Given the description of an element on the screen output the (x, y) to click on. 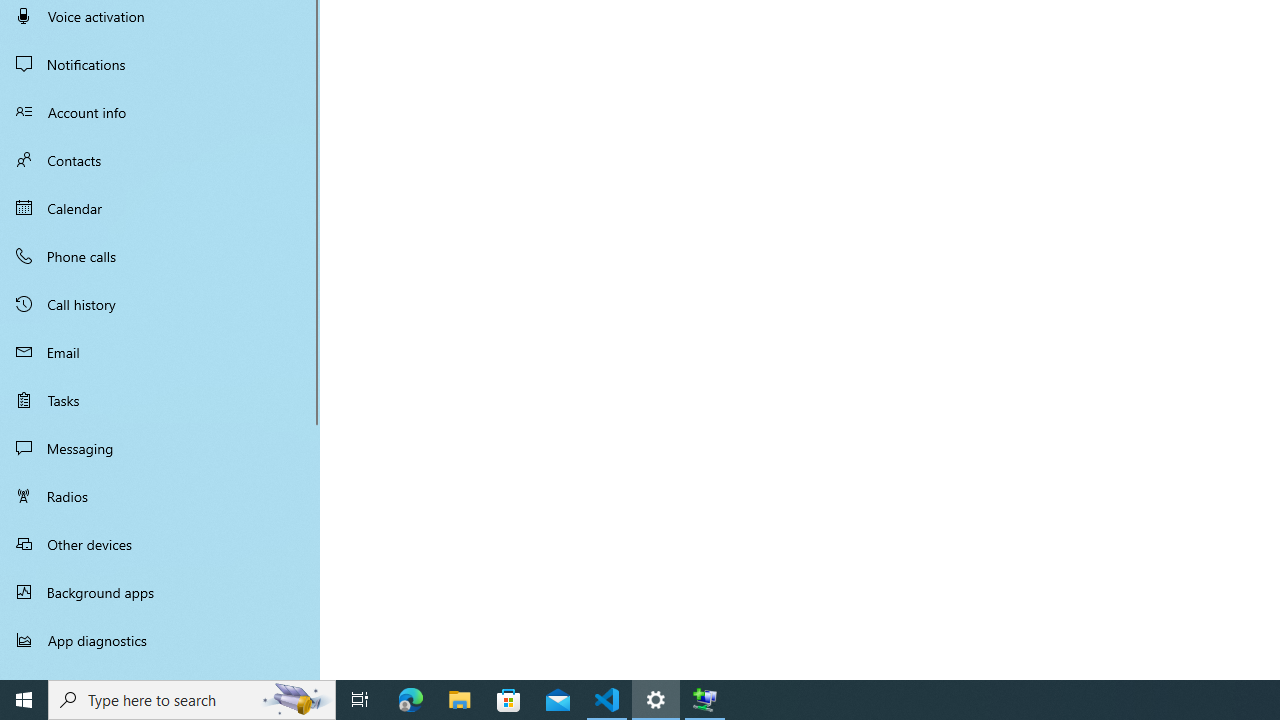
Calendar (160, 207)
Notifications (160, 63)
Extensible Wizards Host Process - 1 running window (704, 699)
Other devices (160, 543)
Contacts (160, 160)
Account info (160, 111)
